Given the description of an element on the screen output the (x, y) to click on. 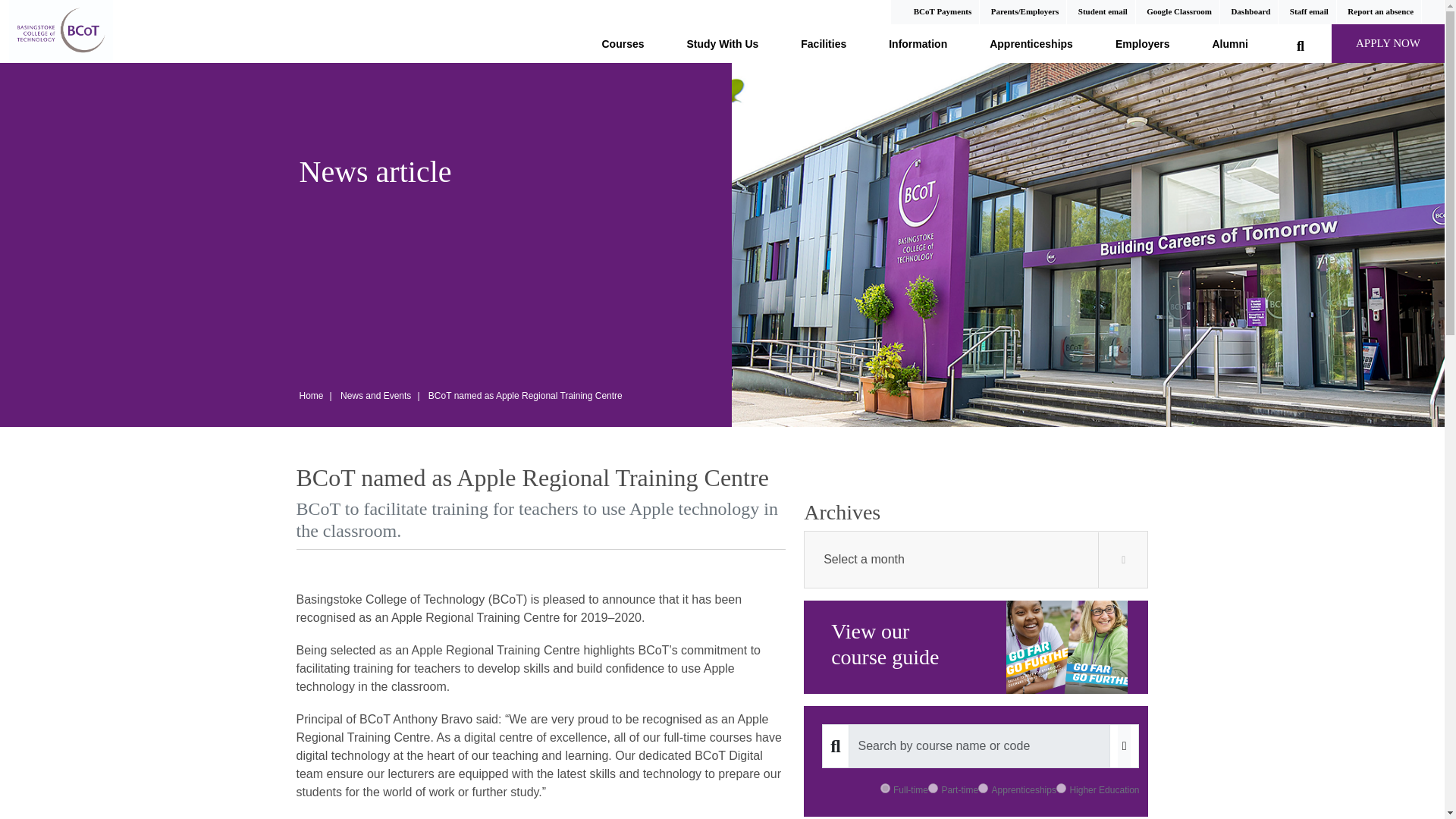
Student email (1102, 10)
AP (983, 787)
Google Classroom (1179, 10)
Dashboard (1249, 10)
Staff email (1308, 10)
Report an absence (1380, 10)
FT (884, 787)
Courses (622, 41)
BCoT Payments (943, 10)
HE (1061, 787)
